Given the description of an element on the screen output the (x, y) to click on. 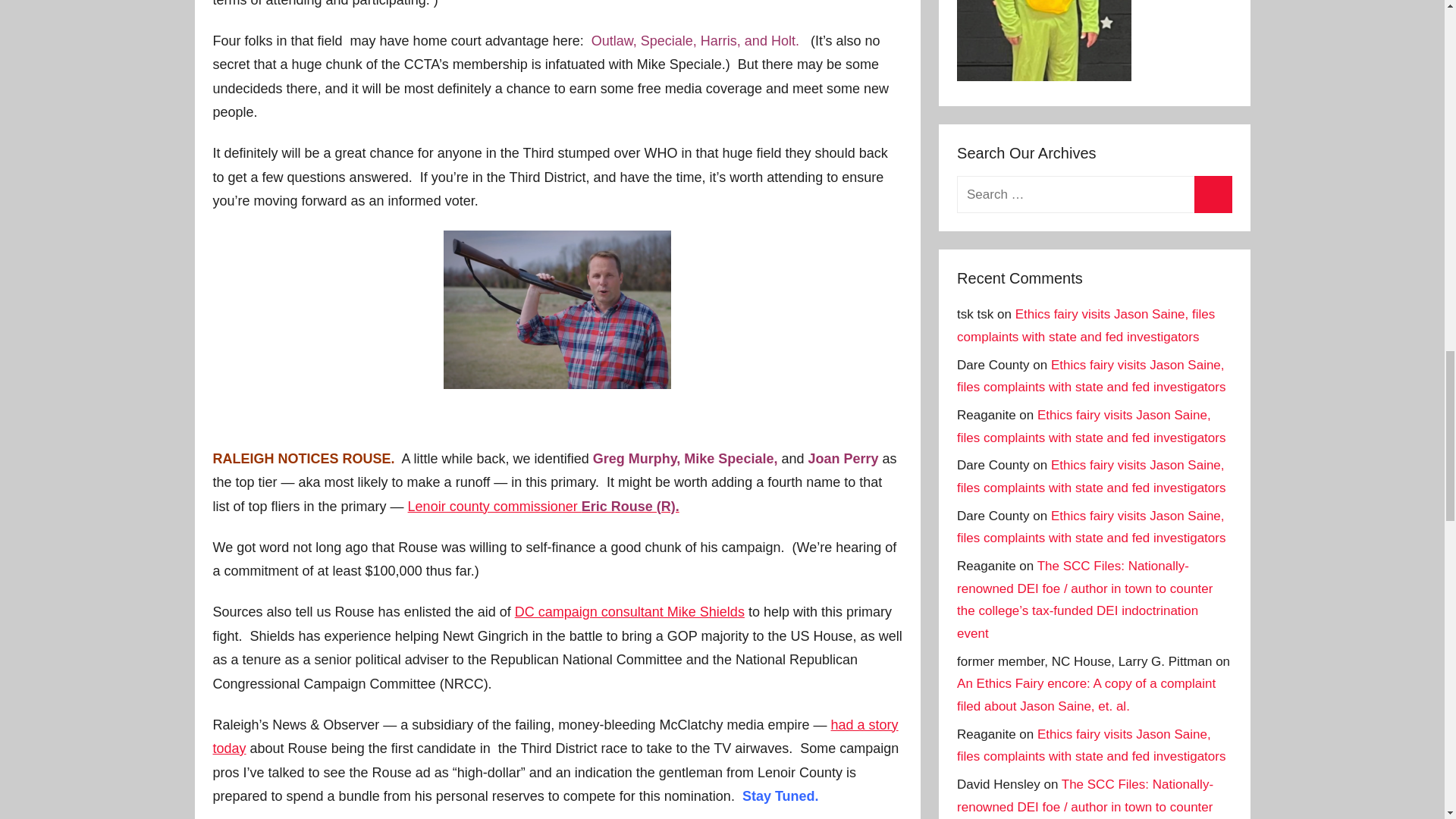
had a story today (555, 736)
Search for: (1093, 194)
DC campaign consultant Mike Shields (629, 611)
Search (1212, 194)
